Given the description of an element on the screen output the (x, y) to click on. 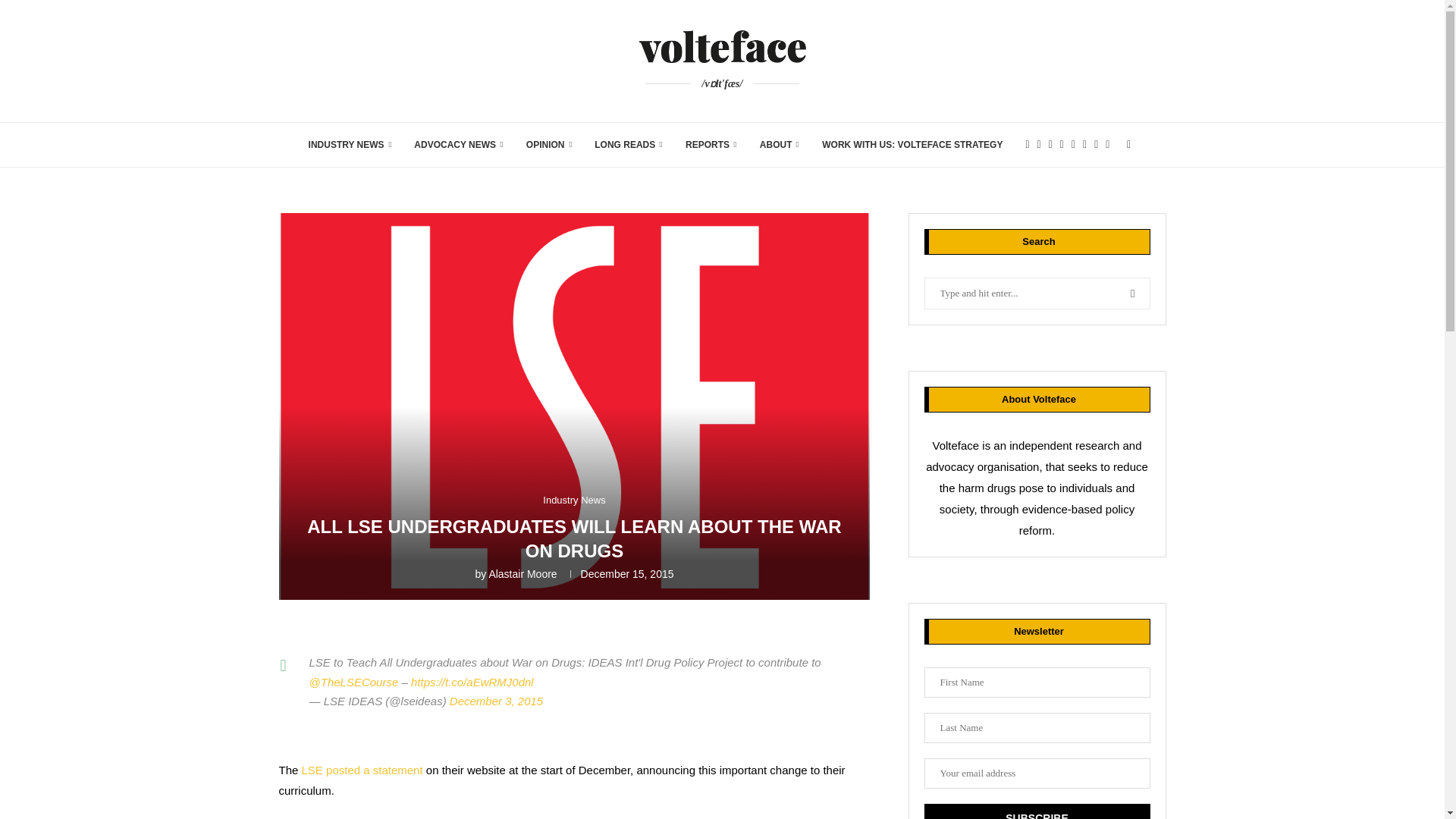
INDUSTRY NEWS (349, 144)
LSE posted a statement (362, 769)
Subscribe (1036, 811)
WORK WITH US: VOLTEFACE STRATEGY (912, 144)
Industry News (574, 500)
December 3, 2015 (496, 700)
LONG READS (628, 144)
ADVOCACY NEWS (458, 144)
OPINION (548, 144)
Alastair Moore (521, 573)
